Given the description of an element on the screen output the (x, y) to click on. 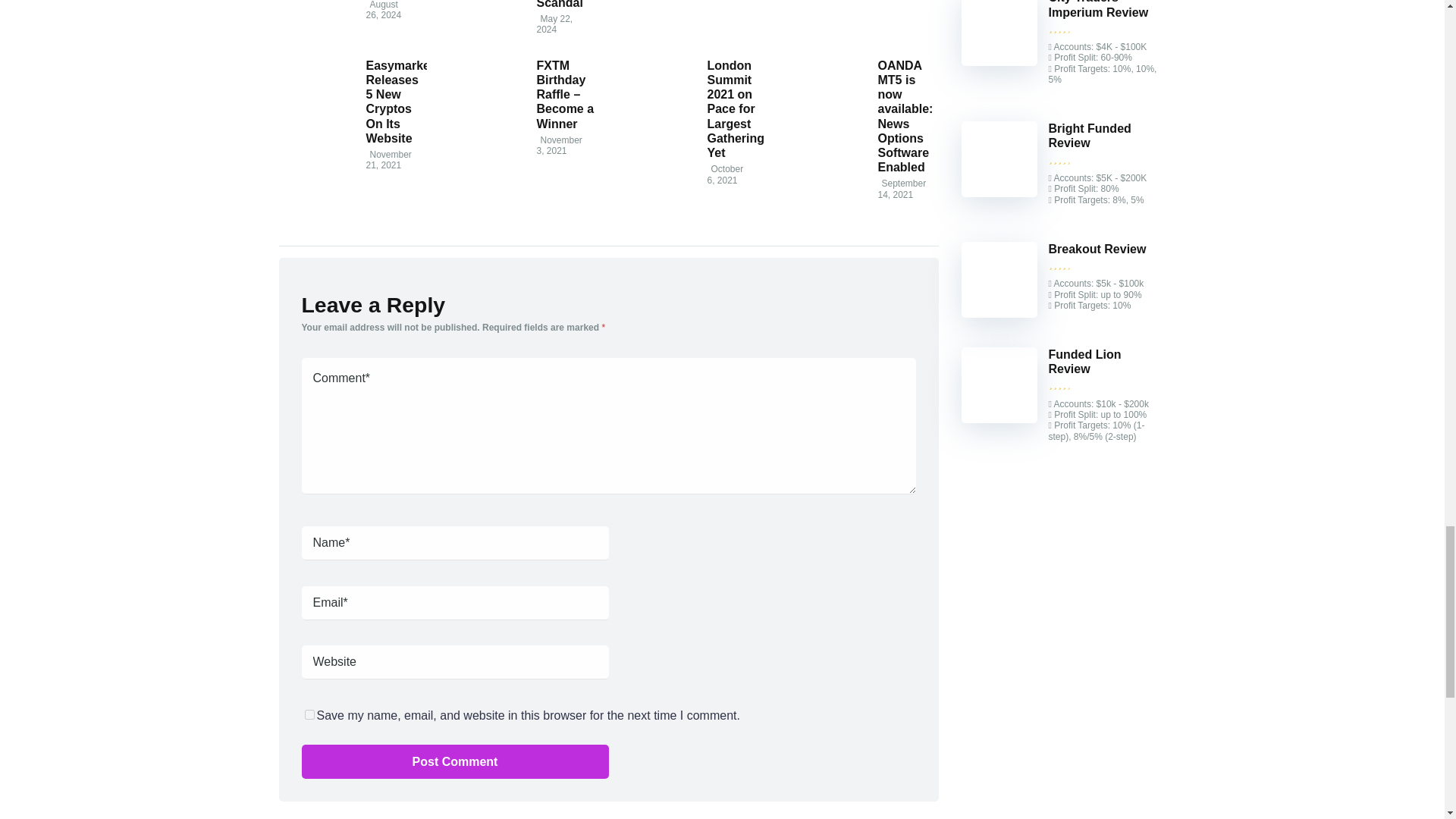
Post Comment (454, 761)
Easymarkets Releases 5 New Cryptos On Its Website (317, 129)
Post Comment (454, 761)
yes (309, 714)
